Given the description of an element on the screen output the (x, y) to click on. 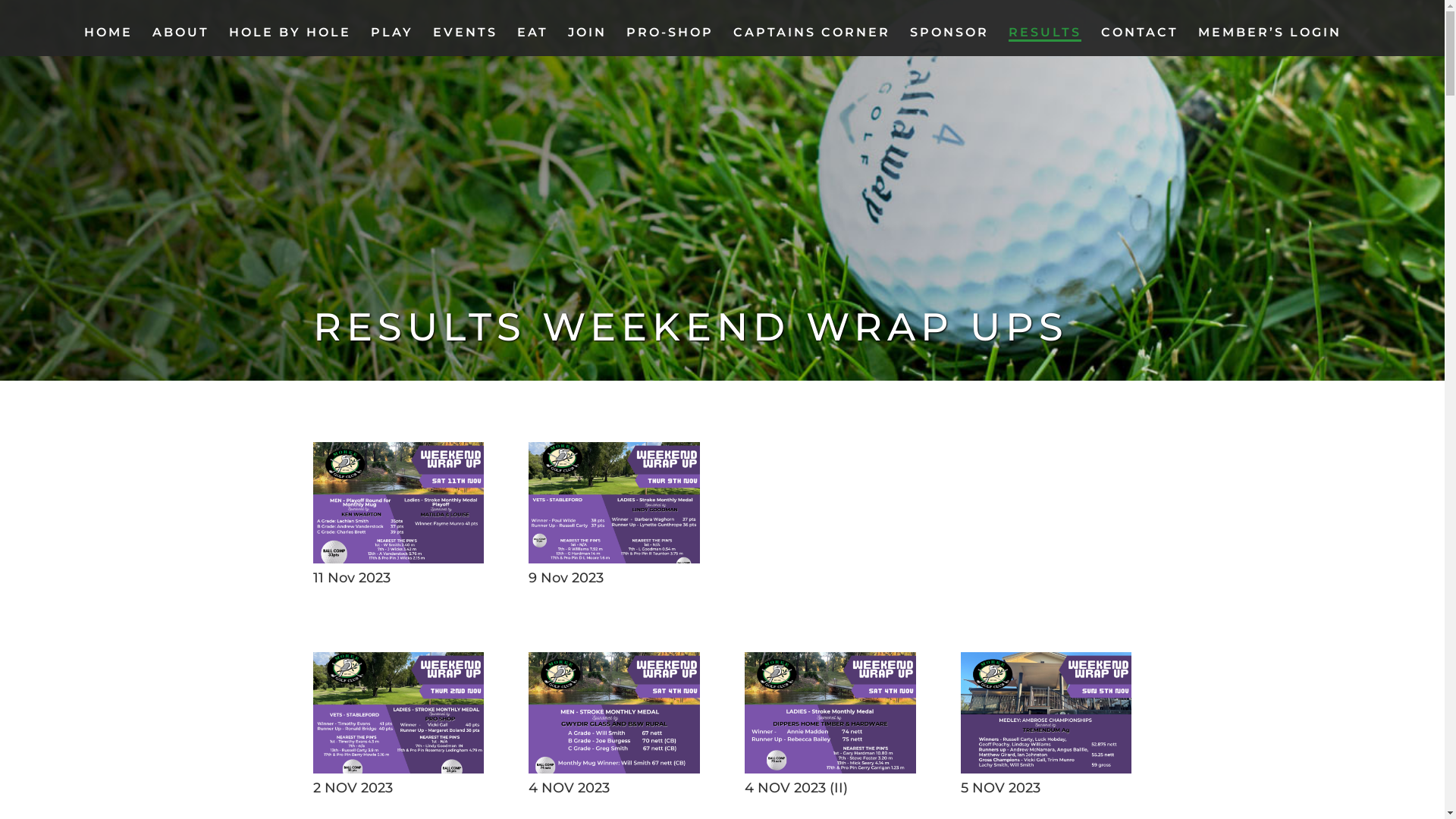
HOLE BY HOLE Element type: text (290, 41)
HOME Element type: text (107, 41)
4 NOV 2023 Element type: hover (613, 768)
EVENTS Element type: text (464, 41)
9 Nov 2023 Element type: hover (613, 558)
CONTACT Element type: text (1139, 41)
SPONSOR Element type: text (949, 41)
2 NOV 2023 Element type: hover (397, 768)
PRO-SHOP Element type: text (669, 41)
4 NOV 2023 (II) Element type: hover (829, 768)
CAPTAINS CORNER Element type: text (810, 41)
5 NOV 2023 Element type: hover (1045, 768)
EAT Element type: text (532, 41)
JOIN Element type: text (586, 41)
ABOUT Element type: text (179, 41)
11 Nov 2023 Element type: hover (397, 558)
RESULTS Element type: text (1044, 41)
PLAY Element type: text (391, 41)
